Given the description of an element on the screen output the (x, y) to click on. 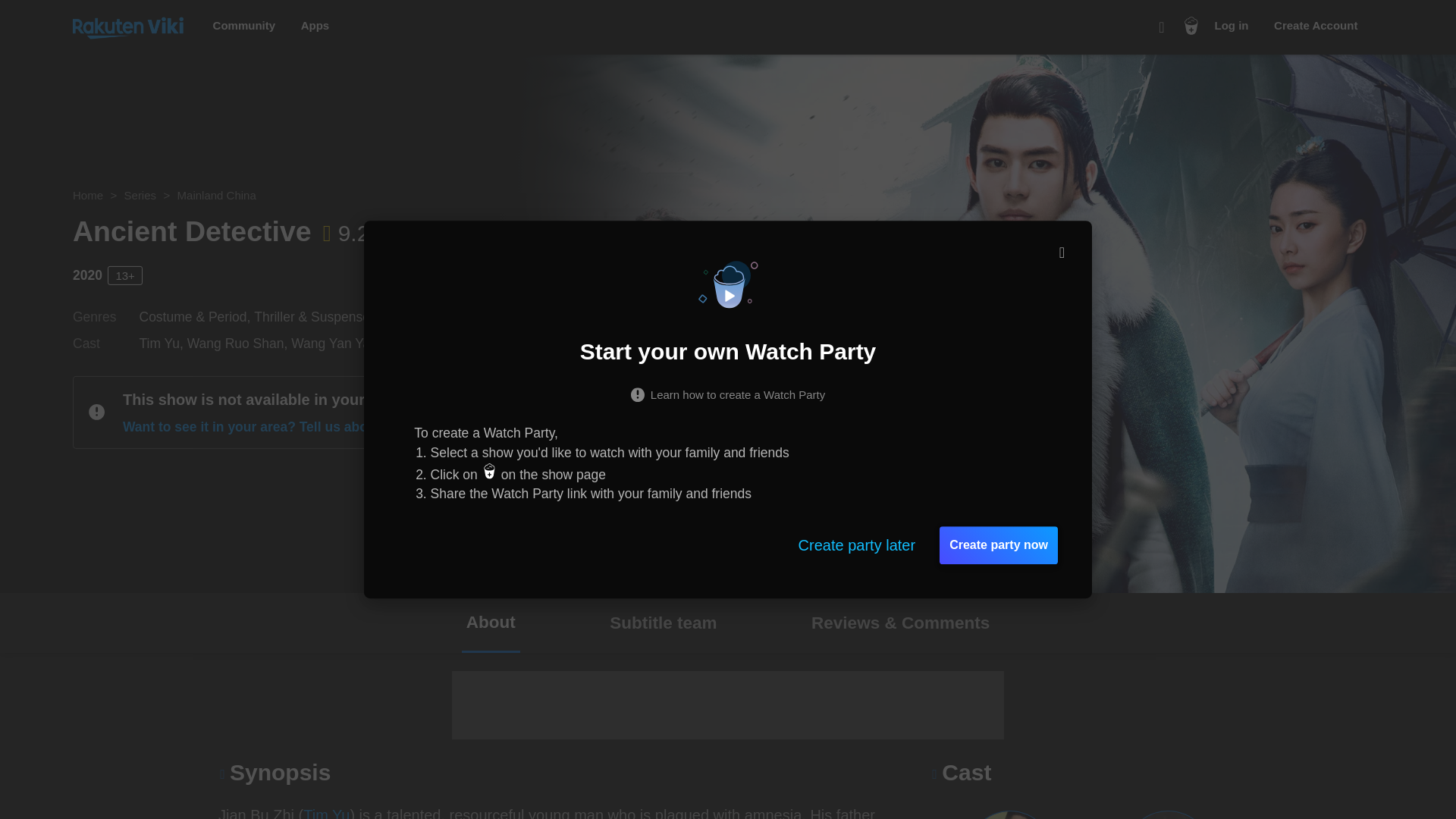
Create party now (998, 545)
Create Account (1315, 25)
About (490, 622)
Tim Yu (325, 812)
Create party later (856, 545)
Home (87, 195)
Wang Ruo Shan, (239, 343)
Series (140, 195)
Subtitle team (662, 622)
Wang Yan Yang, (341, 343)
Ma Zhe Han (429, 343)
Community (244, 25)
Tim Yu, (163, 343)
Want to see it in your area? Tell us about it! (268, 426)
Log in (1231, 25)
